Given the description of an element on the screen output the (x, y) to click on. 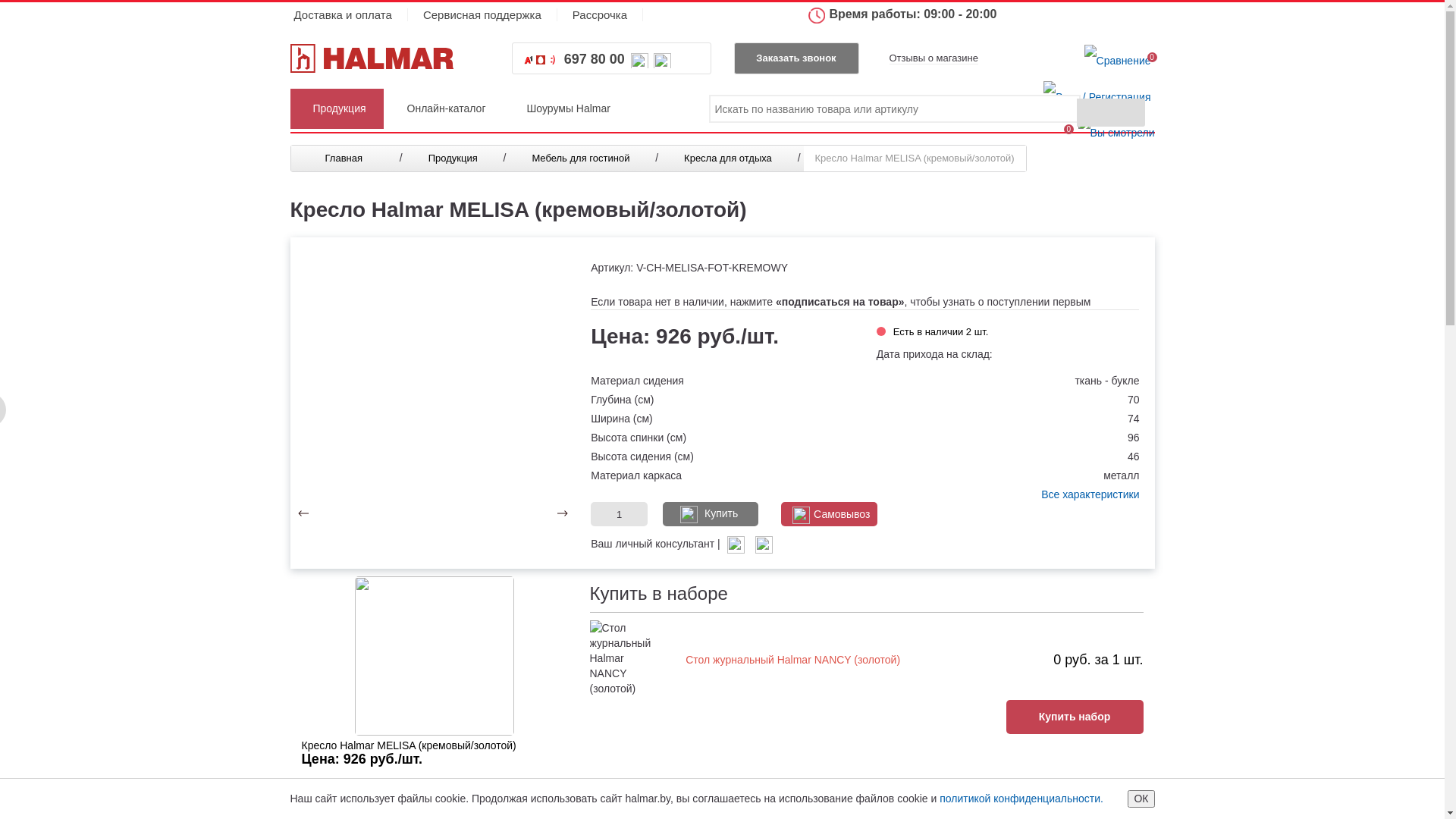
0 Element type: text (1117, 59)
697 80 00 Element type: text (594, 58)
